Given the description of an element on the screen output the (x, y) to click on. 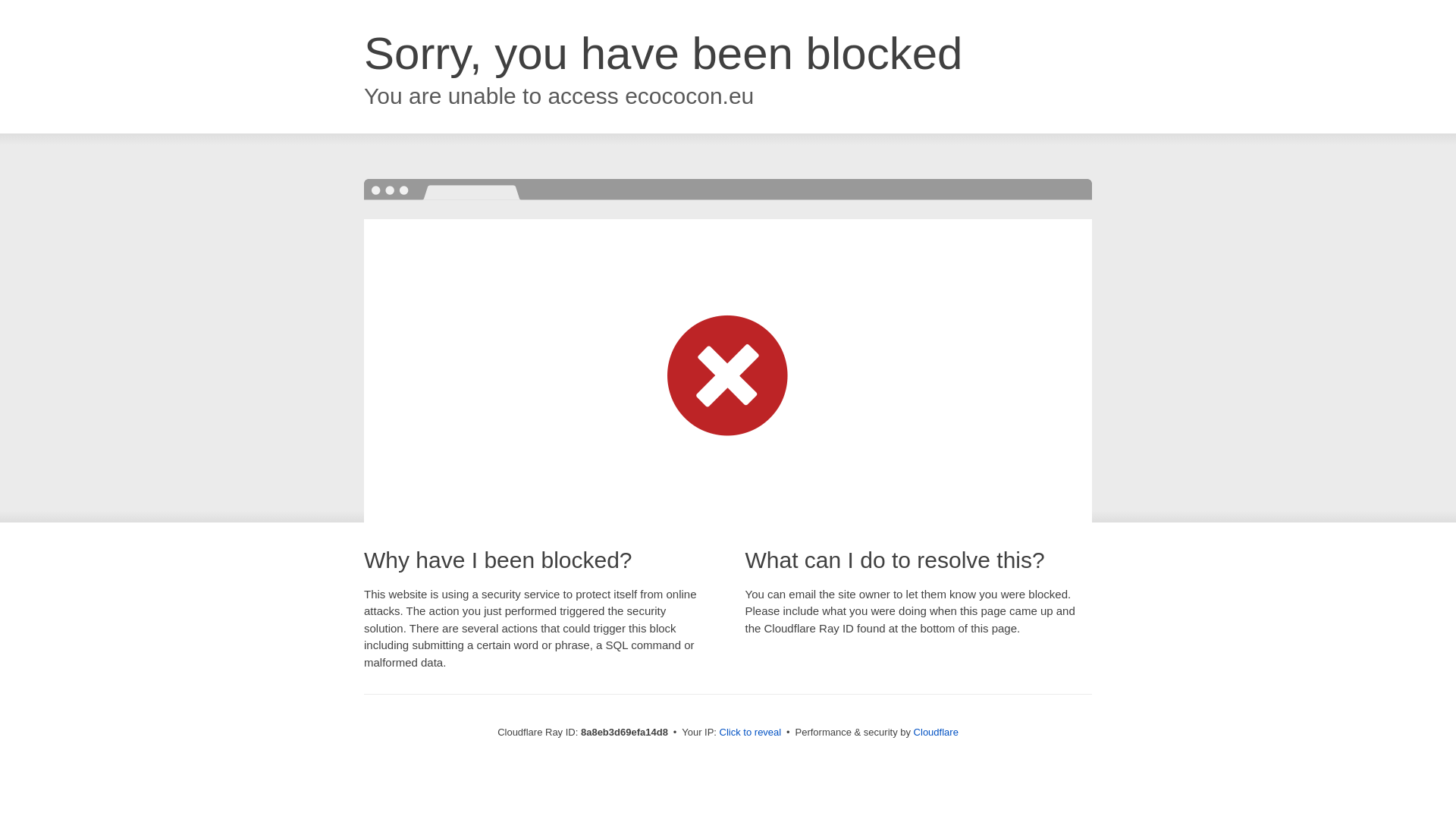
Cloudflare (936, 731)
Click to reveal (750, 732)
